Given the description of an element on the screen output the (x, y) to click on. 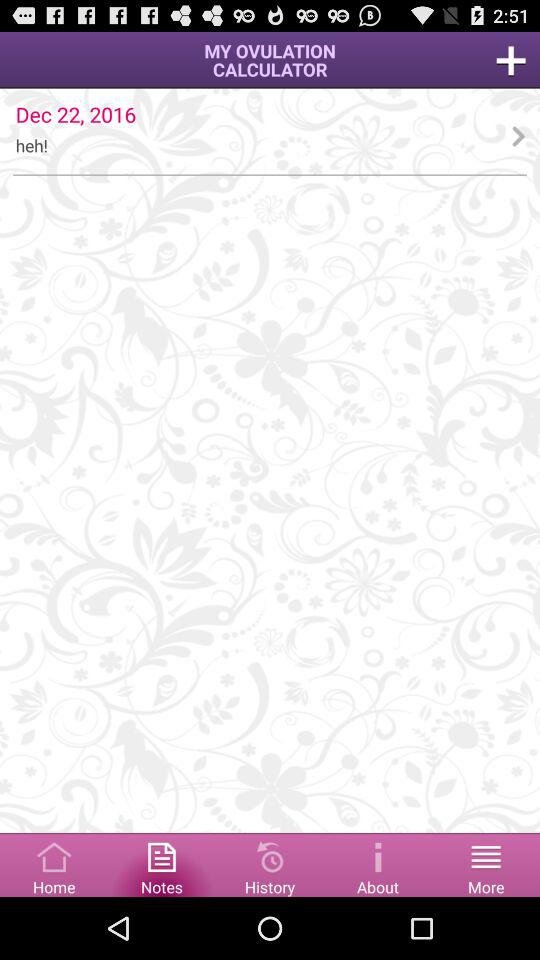
about website (378, 864)
